Given the description of an element on the screen output the (x, y) to click on. 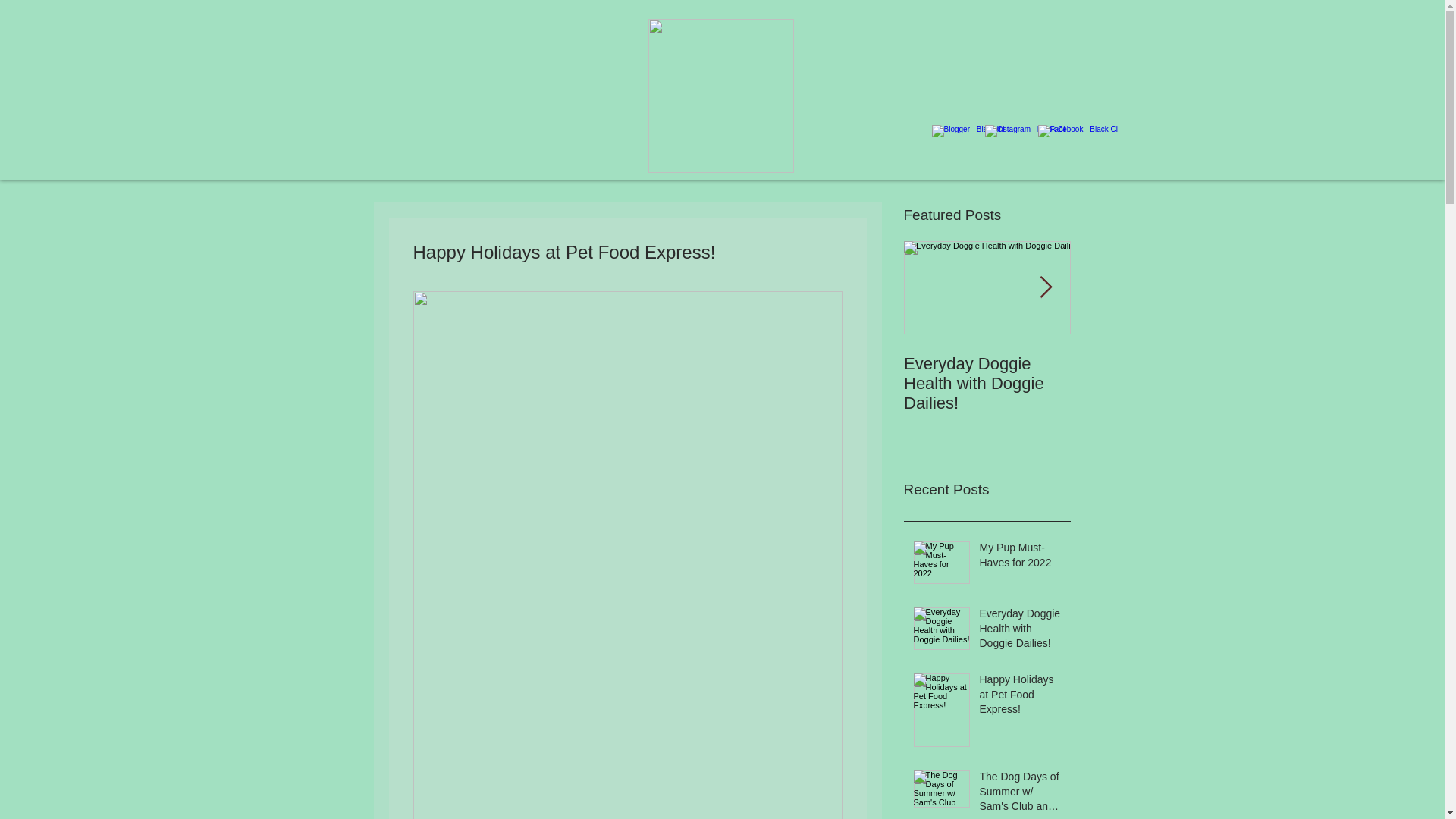
Everyday Doggie Health with Doggie Dailies! (987, 383)
My Pup Must-Haves for 2022 (1020, 558)
Everyday Doggie Health with Doggie Dailies! (1020, 631)
Happy Holidays at Pet Food Express! (1020, 697)
